Given the description of an element on the screen output the (x, y) to click on. 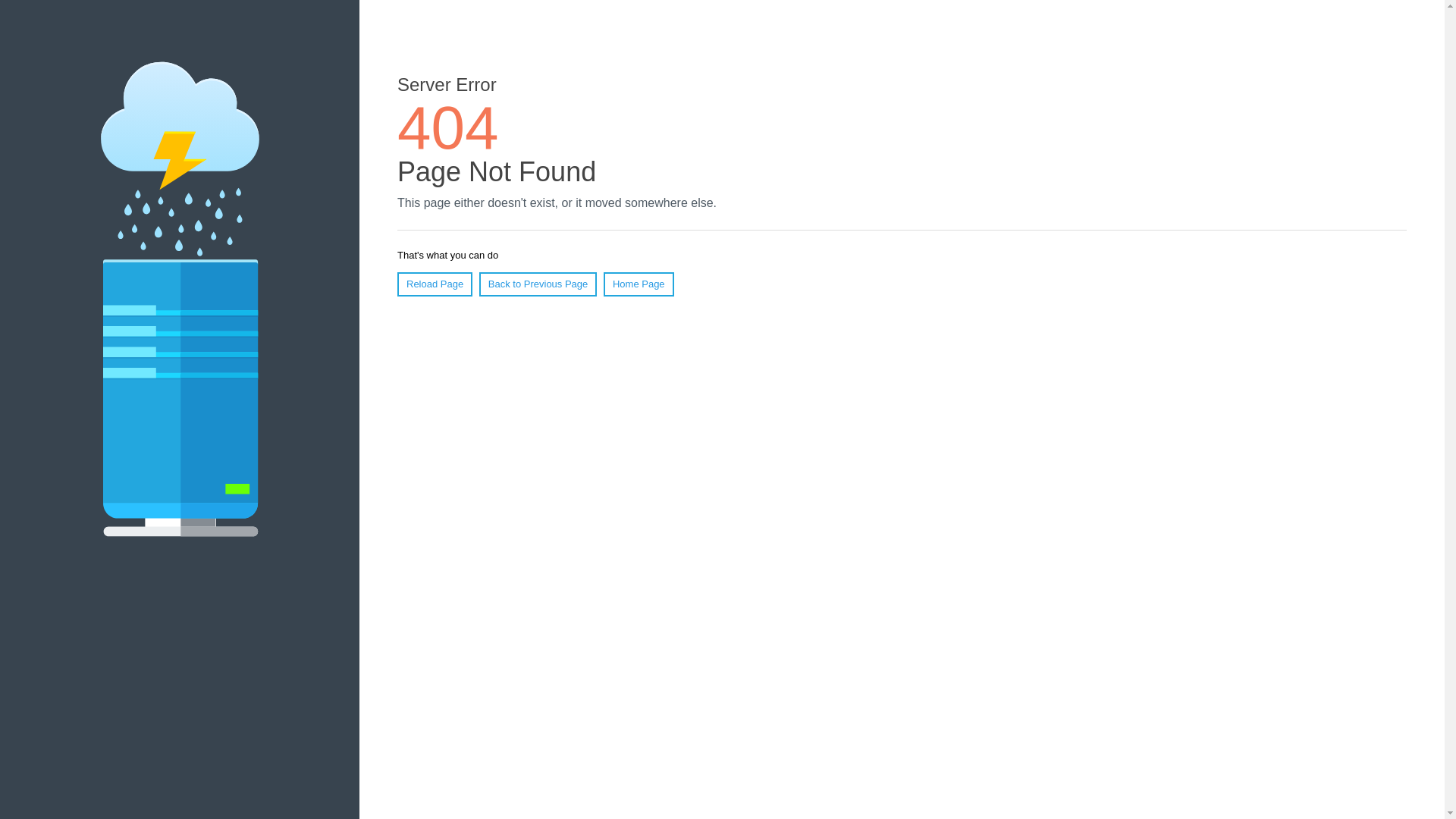
Back to Previous Page Element type: text (538, 284)
Reload Page Element type: text (434, 284)
Home Page Element type: text (638, 284)
